Given the description of an element on the screen output the (x, y) to click on. 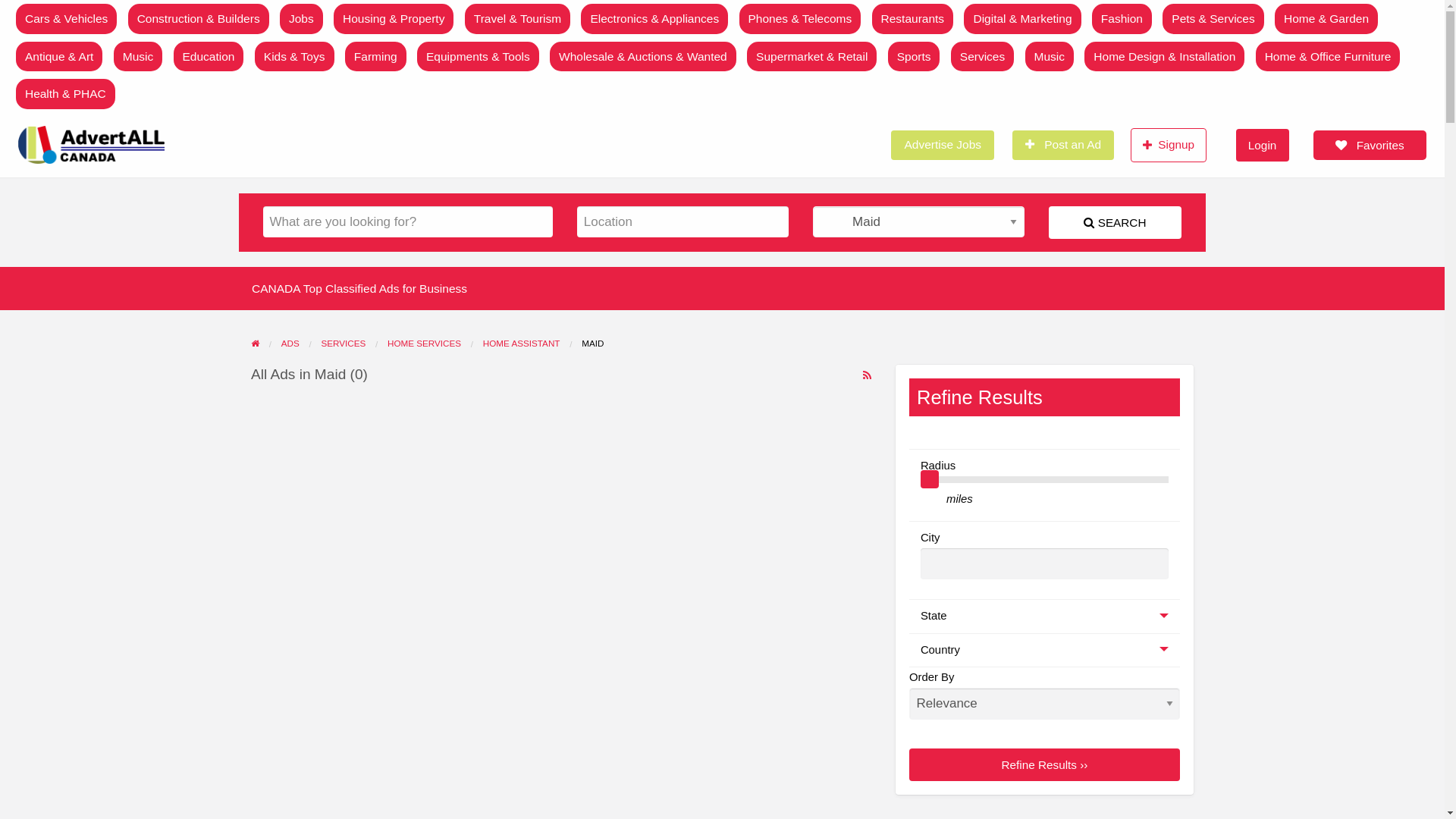
Health & PHAC Element type: text (65, 93)
Canada Classified Ads Online Services, Buy And Sell Element type: text (536, 145)
HOME ASSISTANT Element type: text (521, 343)
Services Element type: text (981, 56)
Digital & Marketing Element type: text (1021, 18)
Restaurants Element type: text (912, 18)
Music Element type: text (1049, 56)
Login Element type: text (1262, 144)
Equipments & Tools Element type: text (478, 56)
Sports Element type: text (914, 56)
Login Element type: text (1262, 144)
HOME SERVICES Element type: text (424, 343)
Education Element type: text (208, 56)
SERVICES Element type: text (342, 343)
Home & Office Furniture Element type: text (1327, 56)
Antique & Art Element type: text (58, 56)
Post an Ad Element type: text (1062, 145)
Farming Element type: text (375, 56)
ADS Element type: text (290, 343)
Housing & Property Element type: text (393, 18)
SEARCH Element type: text (1114, 222)
Home & Garden Element type: text (1325, 18)
Signup Element type: text (1168, 145)
Home Design & Installation Element type: text (1164, 56)
CANADA Top Classified Ads for Business Element type: text (359, 288)
Jobs Element type: text (301, 18)
Supermarket & Retail Element type: text (811, 56)
Phones & Telecoms Element type: text (800, 18)
Fashion Element type: text (1121, 18)
Travel & Tourism Element type: text (517, 18)
Electronics & Appliances Element type: text (654, 18)
Signup Element type: text (1168, 144)
Kids & Toys Element type: text (294, 56)
Favorites Element type: text (1369, 144)
Cars & Vehicles Element type: text (65, 18)
Pets & Services Element type: text (1212, 18)
Music Element type: text (137, 56)
Wholesale & Auctions & Wanted Element type: text (642, 56)
RSS Feed for ad tag Maid Element type: text (866, 374)
Advertise Jobs Element type: text (942, 145)
Construction & Builders Element type: text (198, 18)
